Given the description of an element on the screen output the (x, y) to click on. 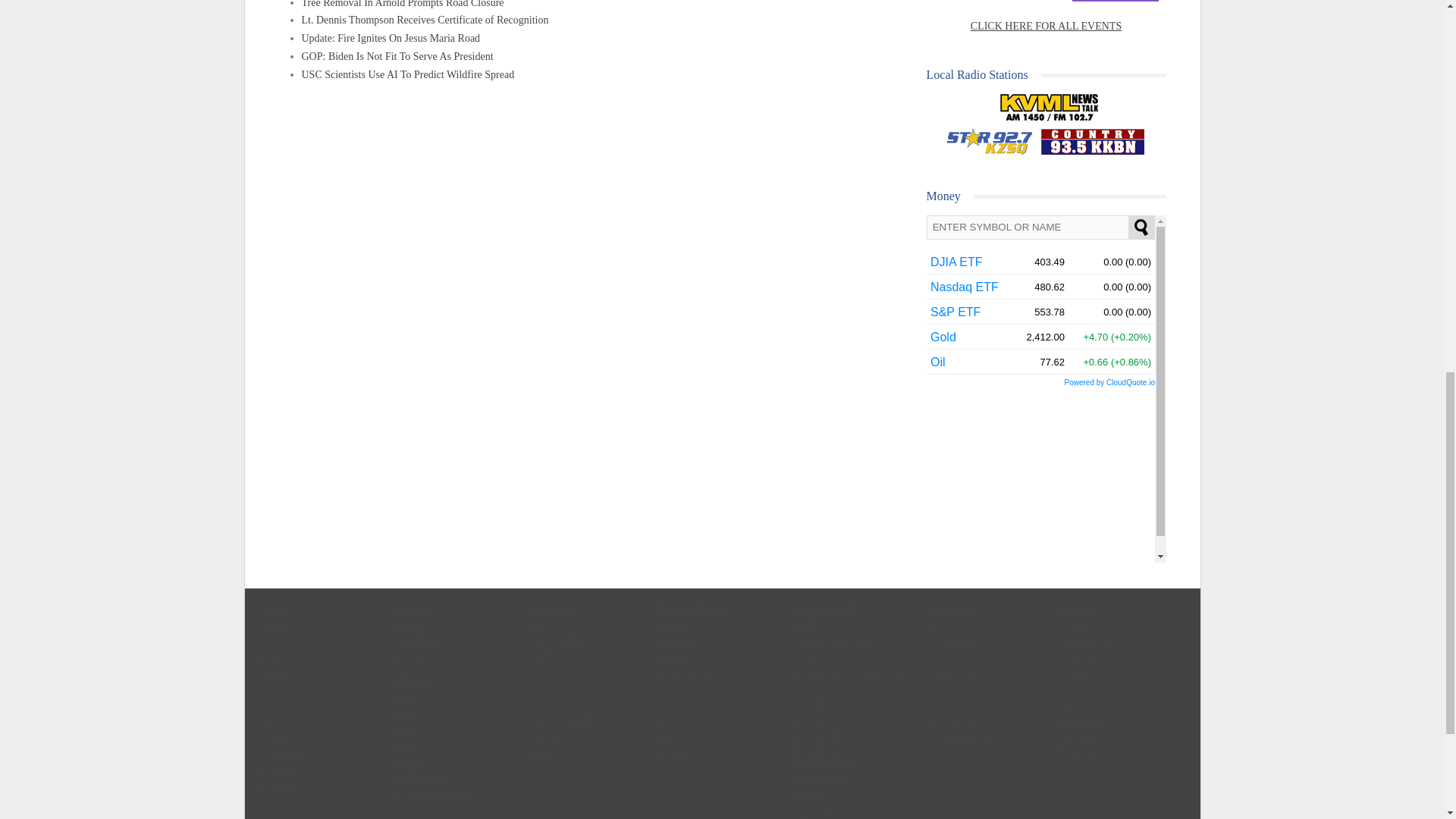
Add An Event (1114, 1)
